Given the description of an element on the screen output the (x, y) to click on. 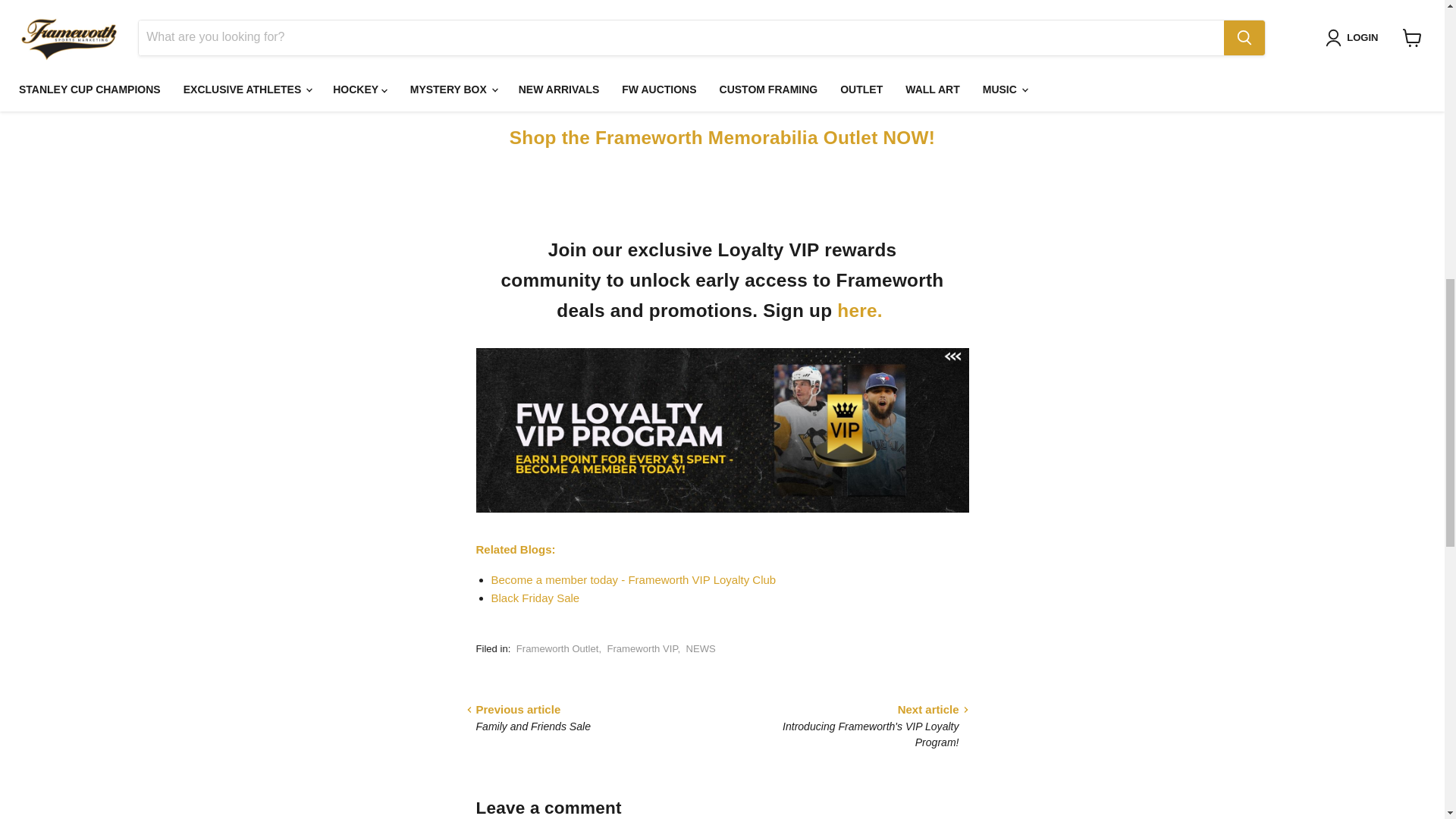
Show articles tagged NEWS (699, 648)
Frameworth VIP Loyalty Club (634, 579)
Frameworth Loyalty VIP Club (861, 310)
Black Friday Sale (535, 597)
Show articles tagged Frameworth Outlet (557, 648)
Show articles tagged Frameworth VIP (642, 648)
